Given the description of an element on the screen output the (x, y) to click on. 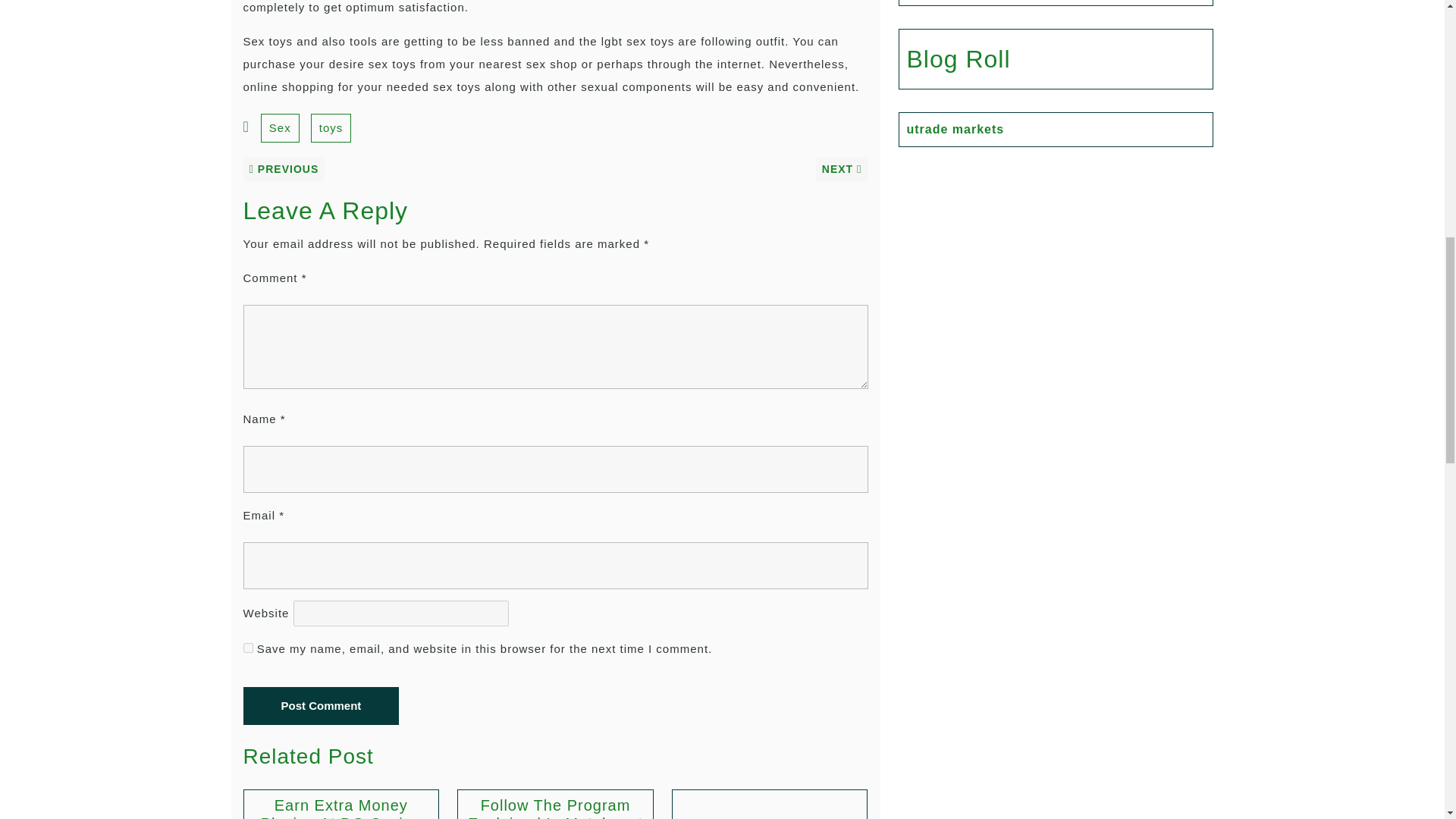
Sex (279, 127)
Post Comment (320, 705)
Post Comment (320, 705)
yes (247, 647)
toys (331, 127)
PREVIOUS (283, 168)
NEXT (841, 168)
